Given the description of an element on the screen output the (x, y) to click on. 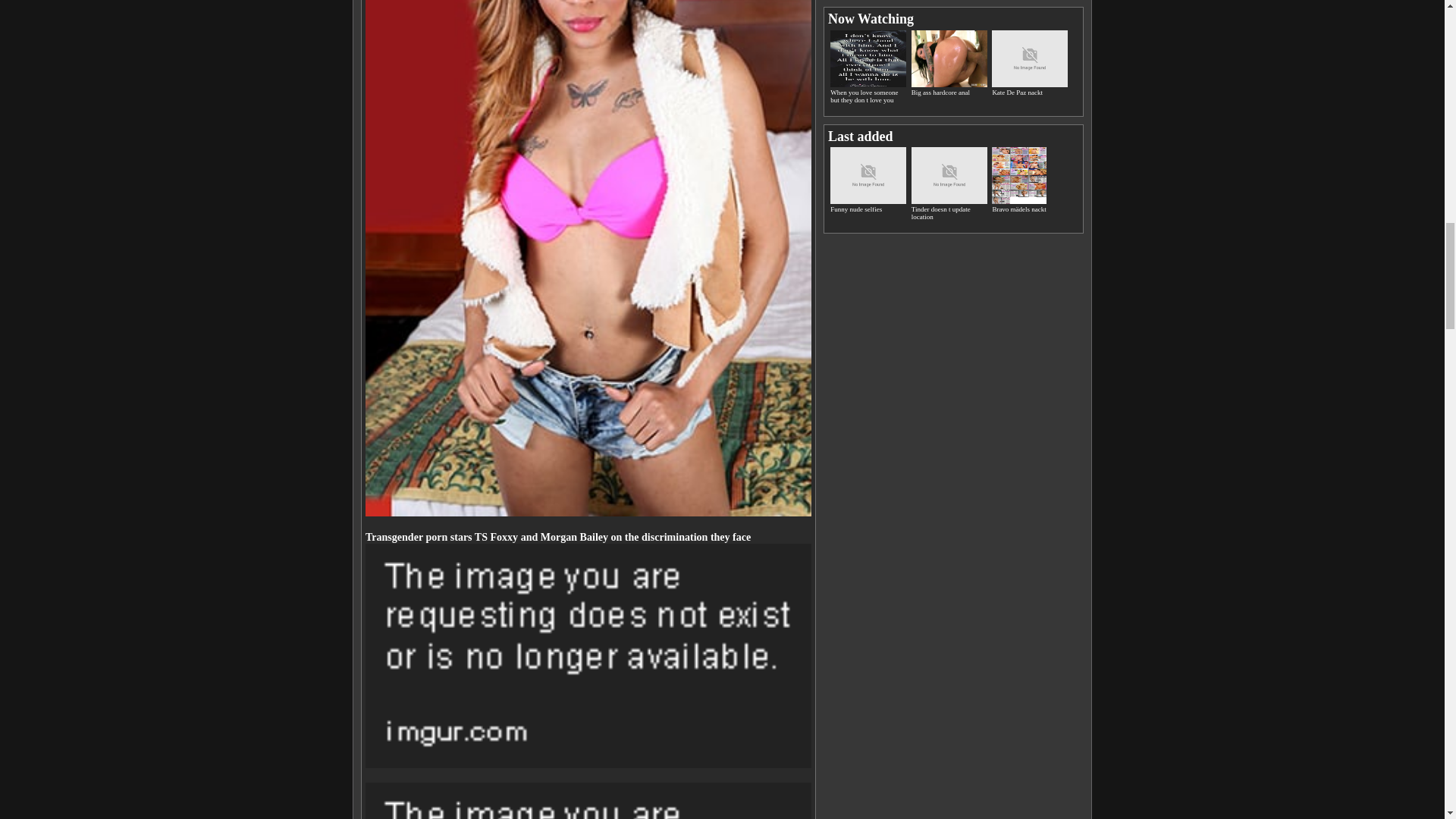
Kensington ts hailey Lansing, Michigan (587, 655)
Kensington ts hailey Transgender porn (587, 800)
